Given the description of an element on the screen output the (x, y) to click on. 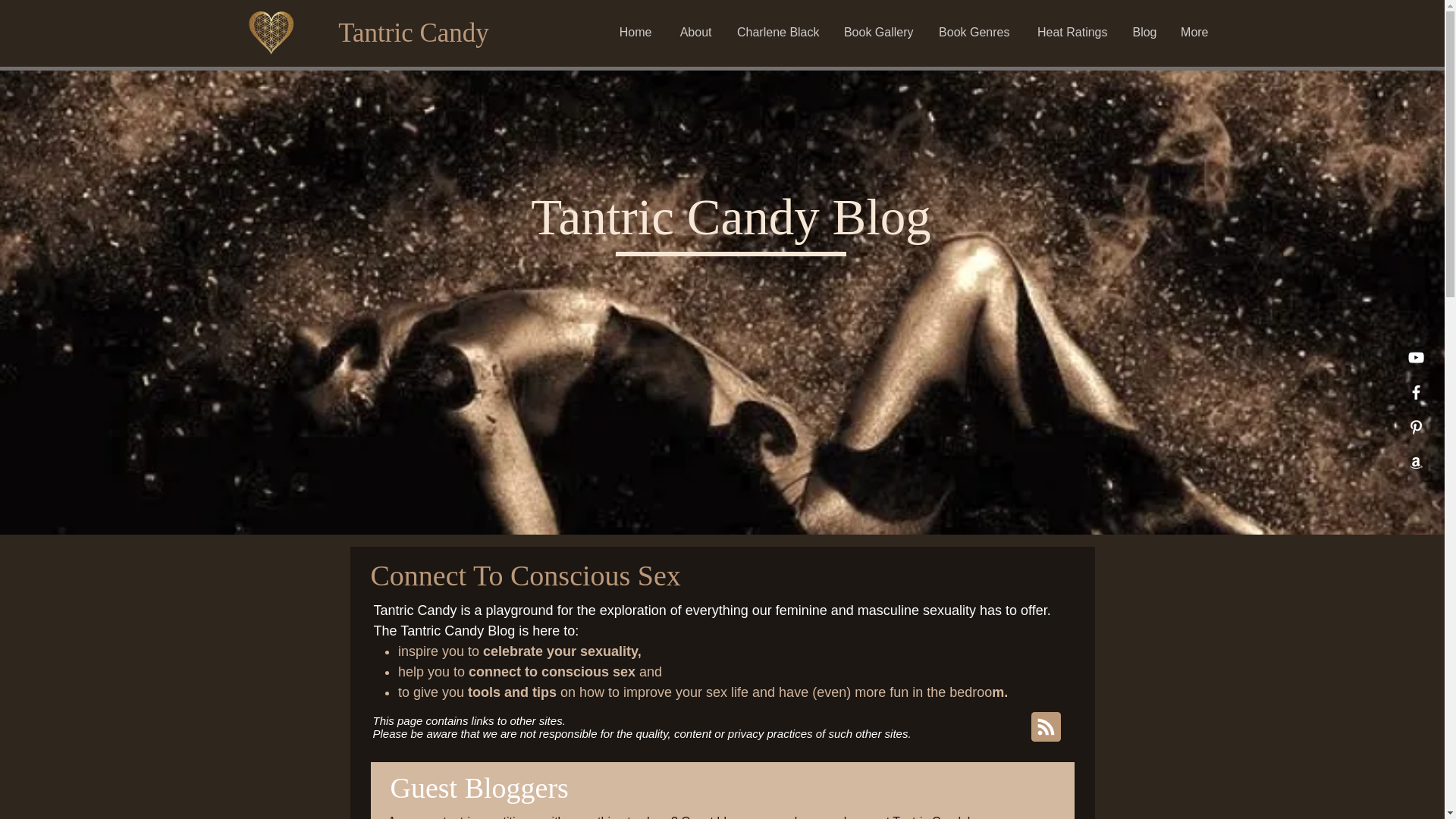
Home (635, 32)
Book Gallery (877, 32)
Blog (1144, 32)
Heat Ratings (1069, 32)
Book Genres (973, 32)
Charlene Black (777, 32)
About (692, 32)
Tantric Candy (413, 32)
